Given the description of an element on the screen output the (x, y) to click on. 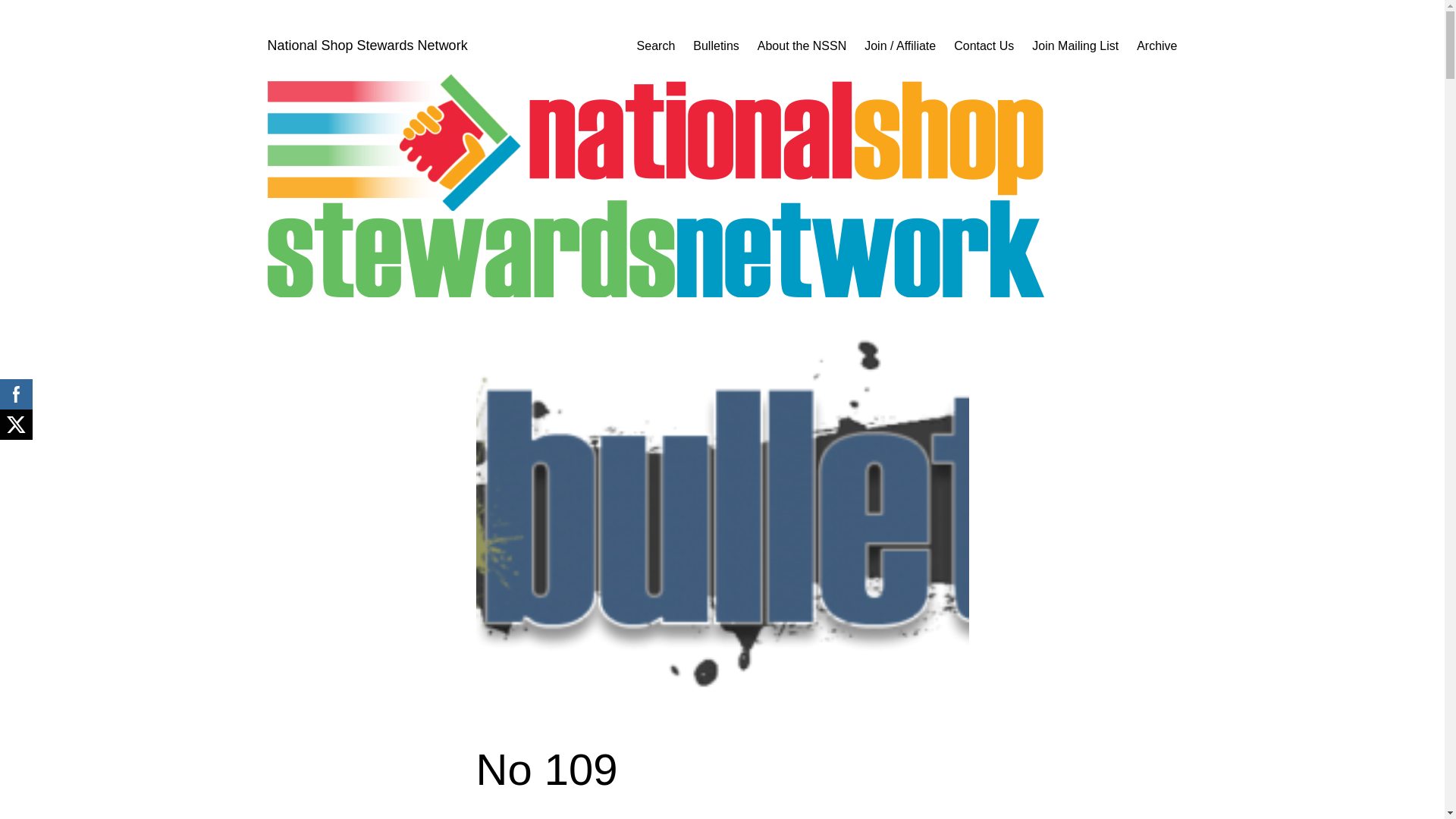
Contact Us (983, 46)
Join Mailing List (1075, 46)
Bulletins (715, 46)
Archive (1156, 46)
About the NSSN (801, 46)
National Shop Stewards Network (366, 45)
Search (656, 46)
